Given the description of an element on the screen output the (x, y) to click on. 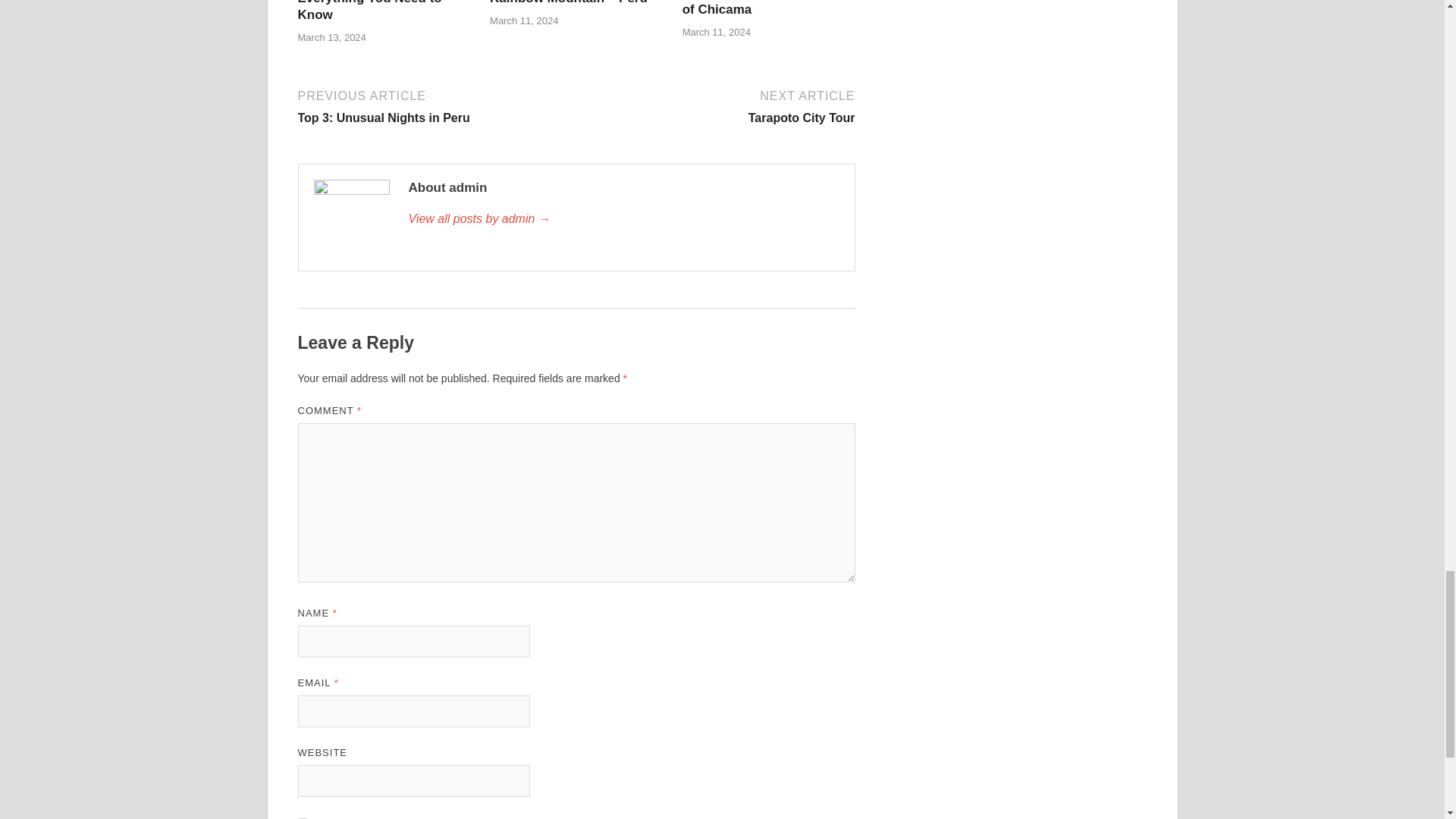
Train to Machu Picchu: Everything You Need to Know (369, 11)
Discovering the Endless Waves and Serene Beauty of Chicama (716, 105)
admin (762, 8)
Train to Machu Picchu: Everything You Need to Know (622, 218)
subscribe (369, 11)
Discovering the Endless Waves and Serene Beauty of Chicama (436, 105)
